Given the description of an element on the screen output the (x, y) to click on. 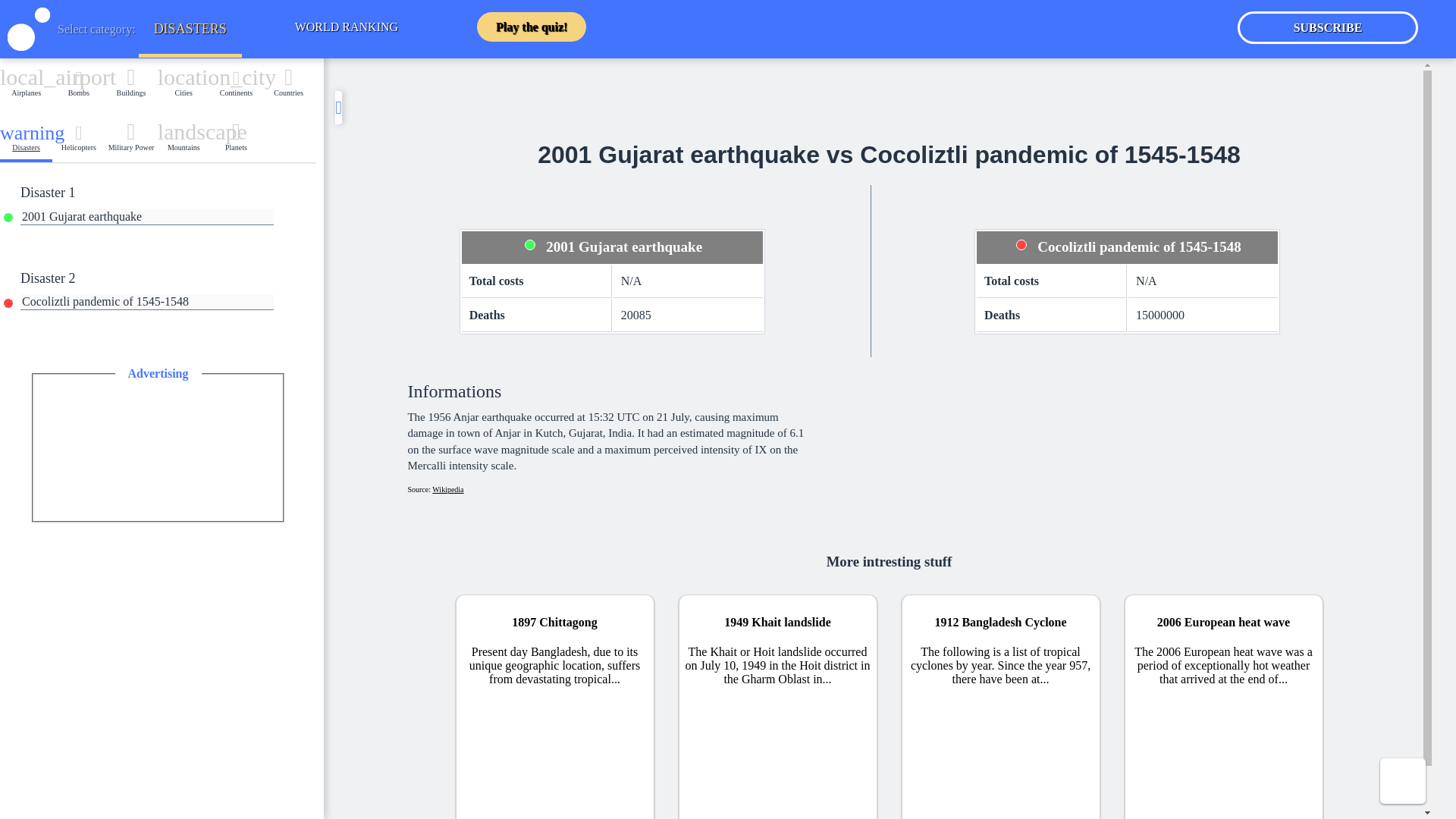
2001 Gujarat earthquake (183, 145)
WORLD RANKING (146, 217)
Cocoliztli pandemic of 1545-1548 (346, 26)
Military Power (146, 302)
Helicopters (130, 145)
Play the quiz! (78, 145)
Wikipedia (531, 26)
